Given the description of an element on the screen output the (x, y) to click on. 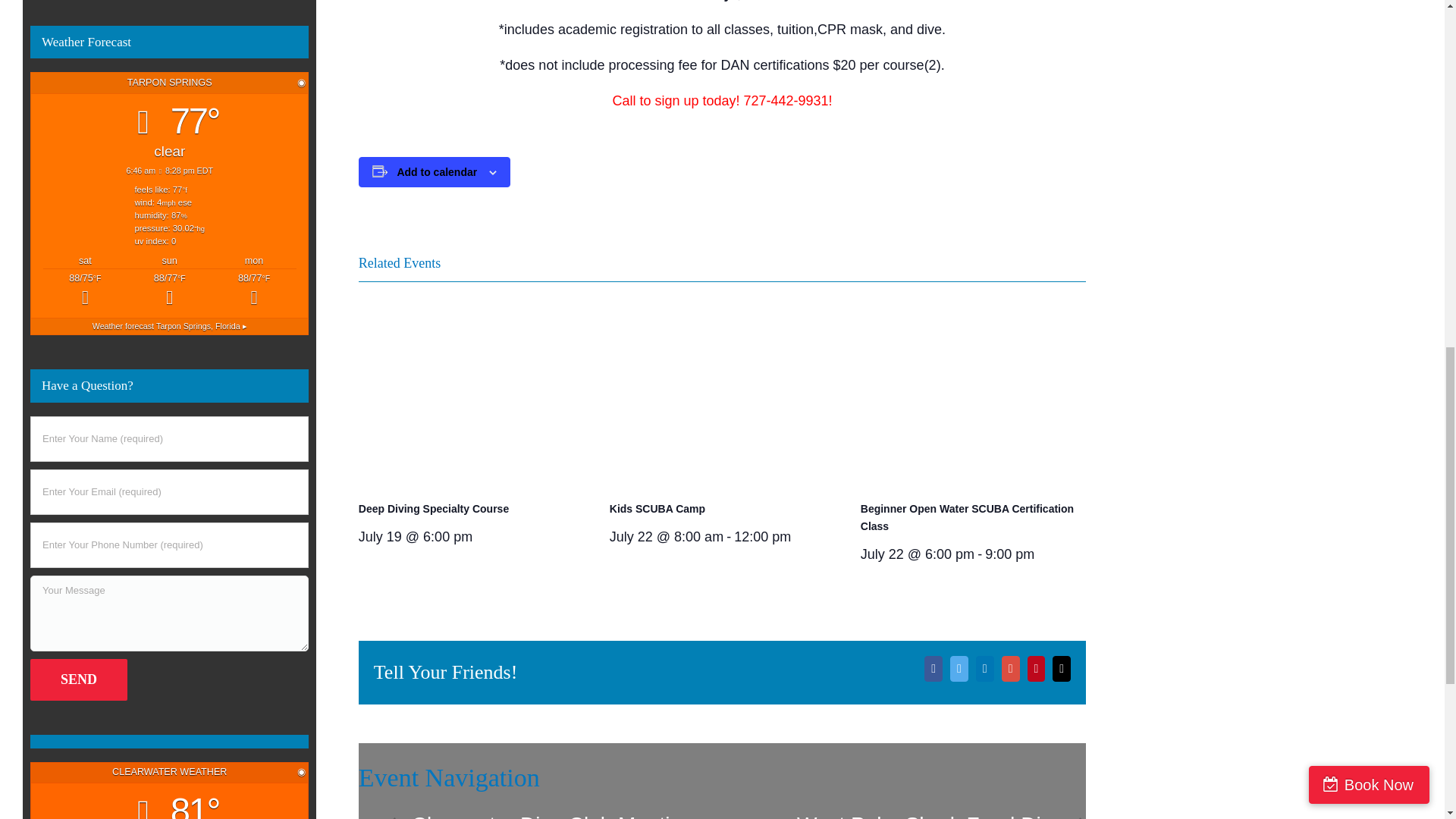
Scattered Thunderstorms (85, 291)
Deep Diving Specialty Course (433, 508)
Add to calendar (436, 171)
Send (79, 680)
PM Thunderstorms (253, 291)
PM Thunderstorms (169, 291)
